Given the description of an element on the screen output the (x, y) to click on. 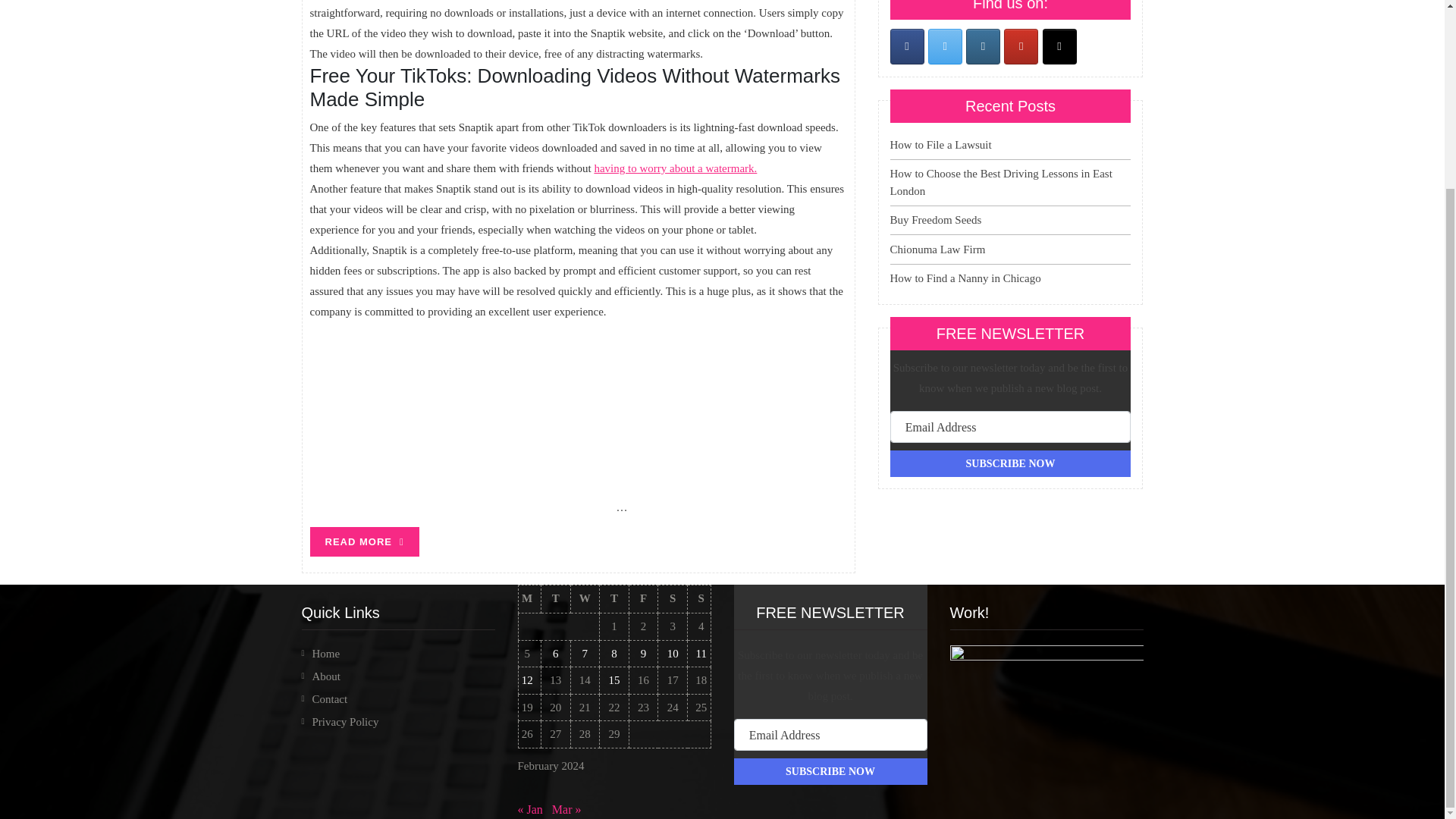
How to Choose the Best Driving Lessons in East London (1000, 182)
having to worry about a watermark. (675, 168)
15 (614, 680)
Athen Sema on Youtube (1021, 46)
Athen Sema on Instagram (983, 46)
Buy Freedom Seeds (935, 219)
SUBSCRIBE NOW (1010, 463)
SUBSCRIBE NOW (1010, 463)
Privacy Policy (345, 721)
